Given the description of an element on the screen output the (x, y) to click on. 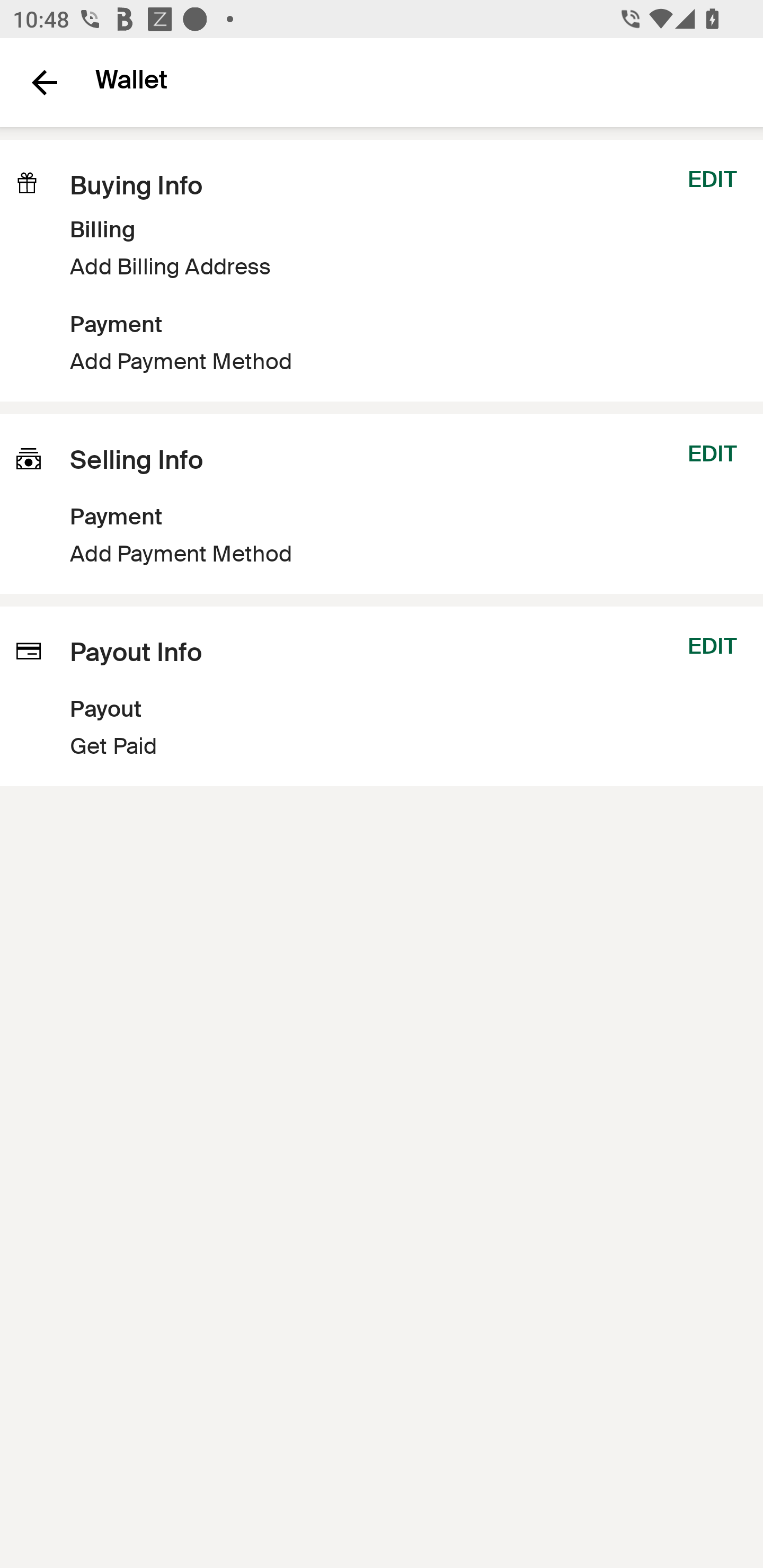
Navigate up (44, 82)
EDIT (712, 179)
EDIT (712, 453)
Selling Info Payment Add Payment Method (159, 503)
EDIT (712, 645)
Payout Info Payout Get Paid (331, 695)
